Given the description of an element on the screen output the (x, y) to click on. 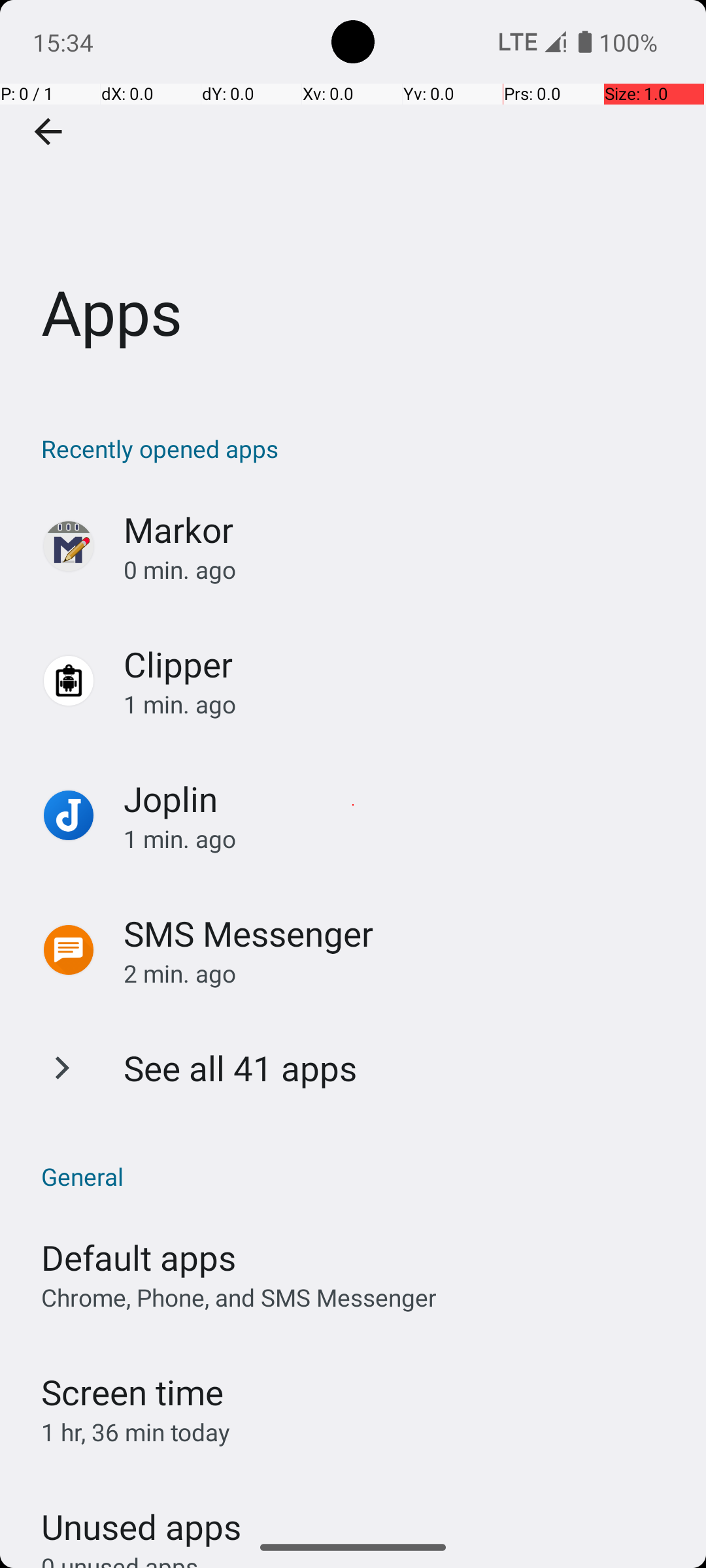
0 min. ago Element type: android.widget.TextView (400, 569)
Clipper Element type: android.widget.TextView (177, 663)
2 min. ago Element type: android.widget.TextView (400, 972)
1 hr, 36 min today Element type: android.widget.TextView (135, 1431)
